Given the description of an element on the screen output the (x, y) to click on. 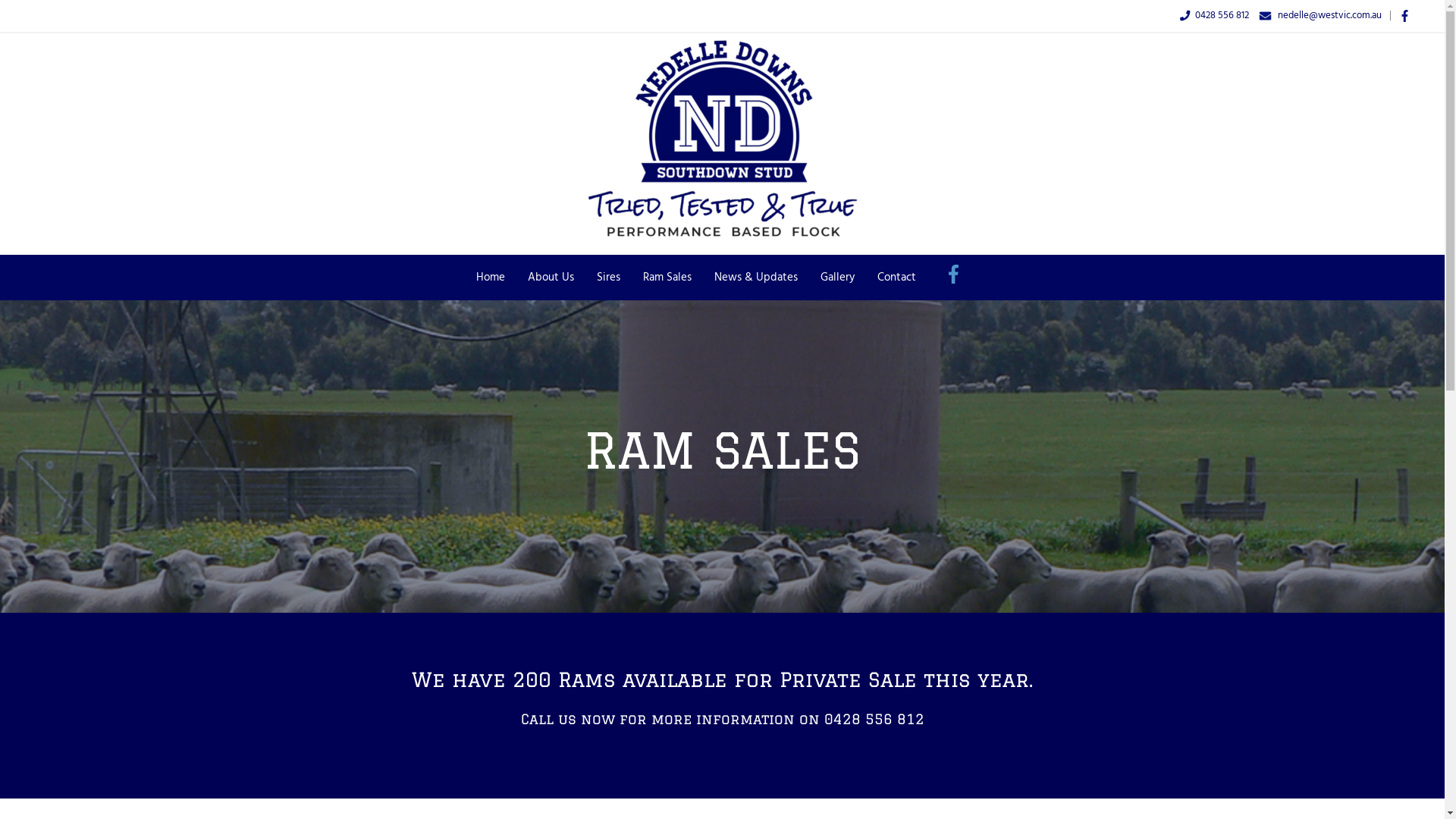
Home Element type: text (489, 277)
News & Updates Element type: text (755, 277)
nedelle@westvic.com.au Element type: text (1329, 15)
0428 556 812 Element type: text (1221, 15)
Gallery Element type: text (836, 277)
About Us Element type: text (549, 277)
Contact Element type: text (896, 277)
Ram Sales Element type: text (666, 277)
Sires Element type: text (608, 277)
